Given the description of an element on the screen output the (x, y) to click on. 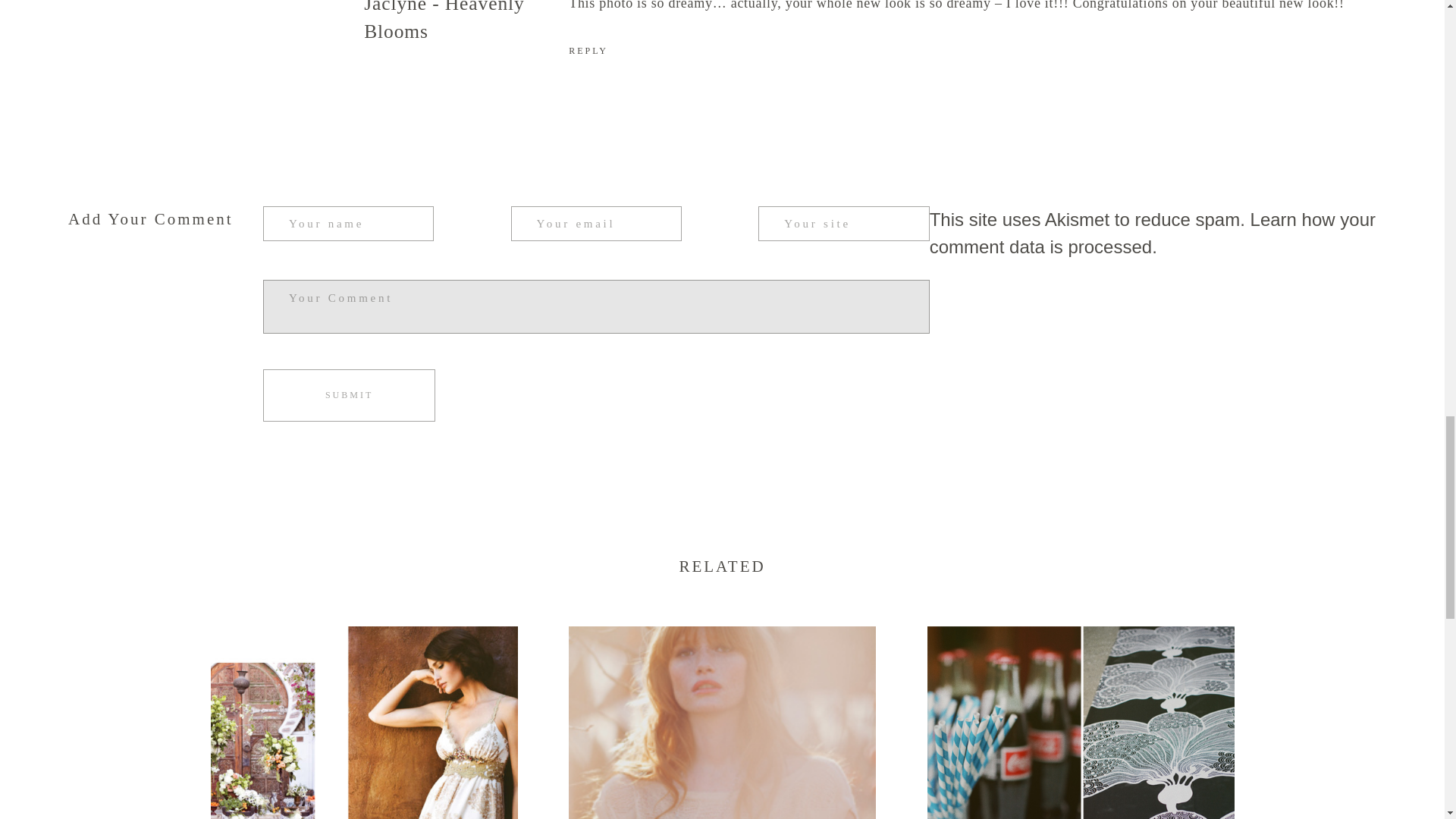
SUBMIT (349, 395)
Learn how your comment data is processed (364, 722)
SUBMIT (1152, 233)
REPLY (349, 395)
Jaclyne - Heavenly Blooms (588, 50)
